Given the description of an element on the screen output the (x, y) to click on. 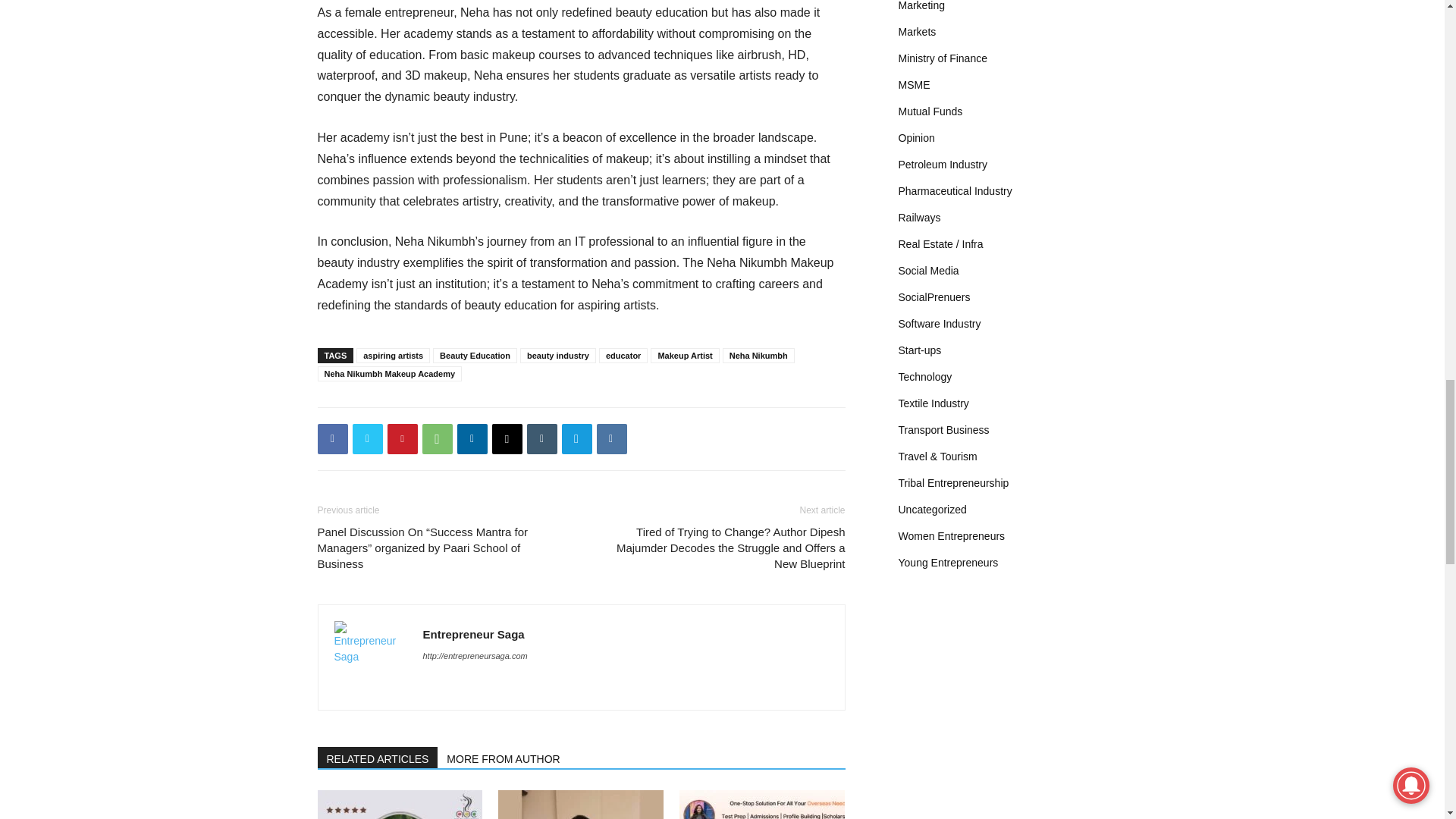
Facebook (332, 439)
